Given the description of an element on the screen output the (x, y) to click on. 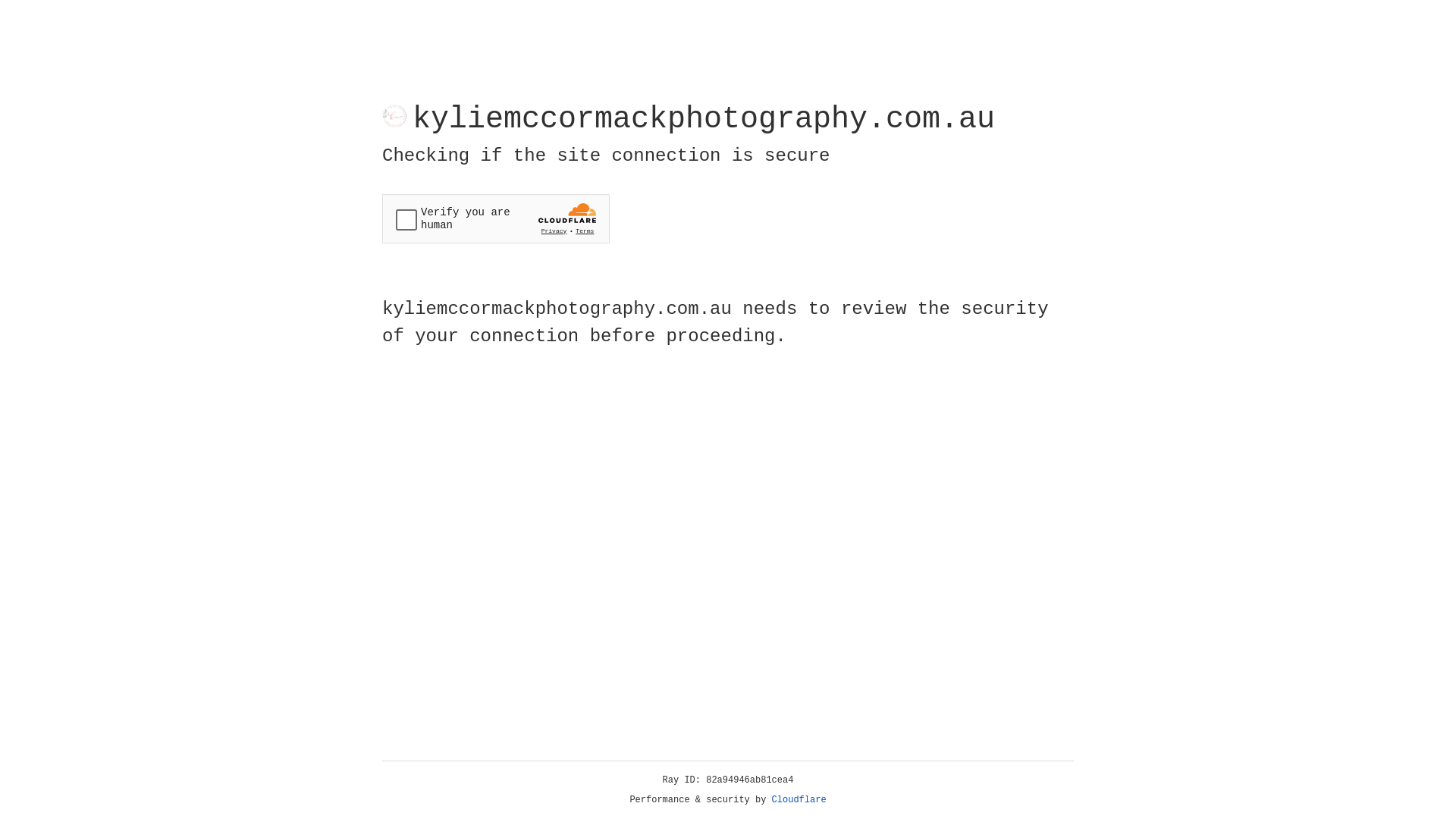
Widget containing a Cloudflare security challenge Element type: hover (495, 218)
Cloudflare Element type: text (798, 799)
